Given the description of an element on the screen output the (x, y) to click on. 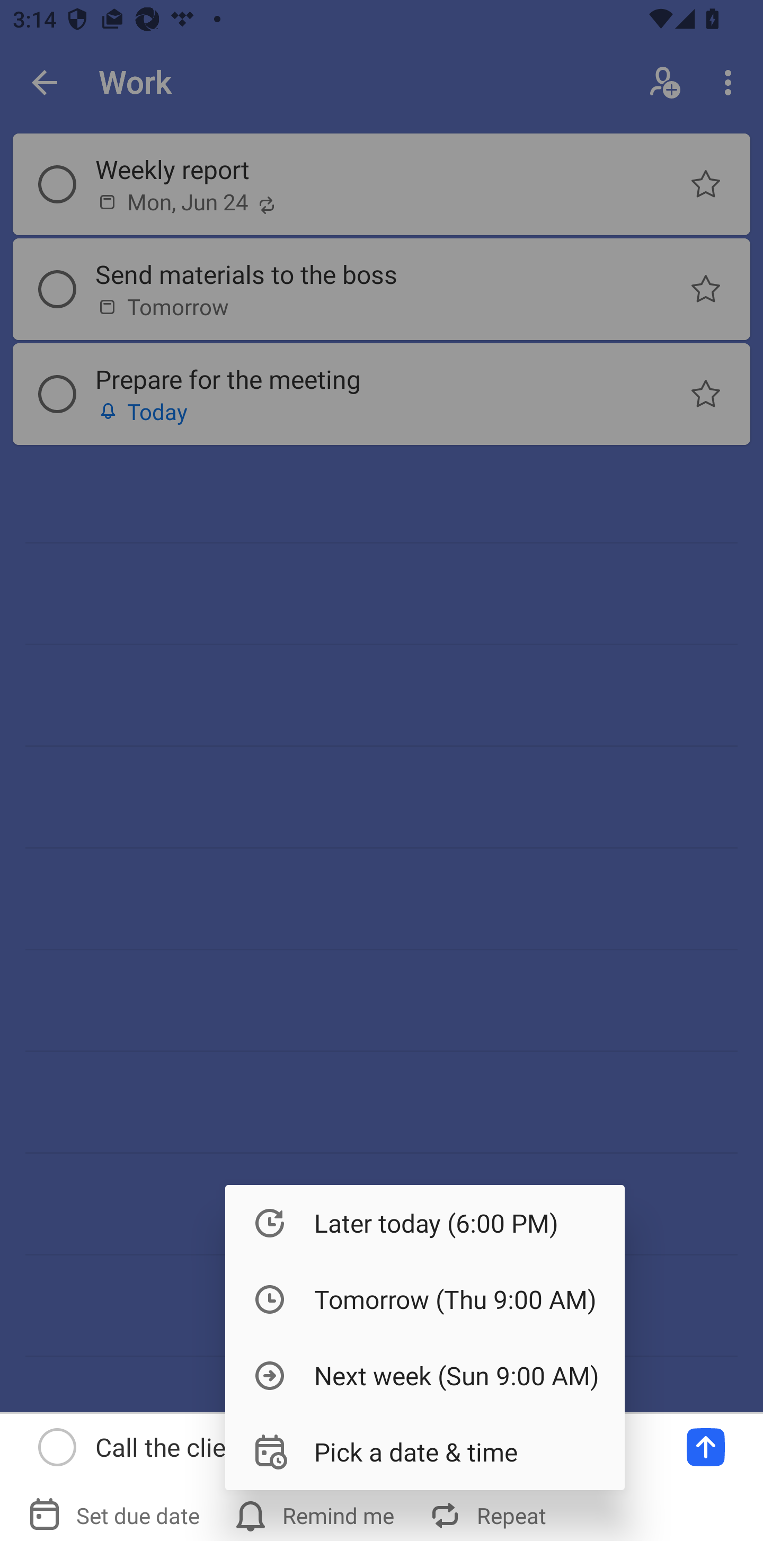
Pick a date & time4 in 4 Pick a date & time (424, 1451)
